Given the description of an element on the screen output the (x, y) to click on. 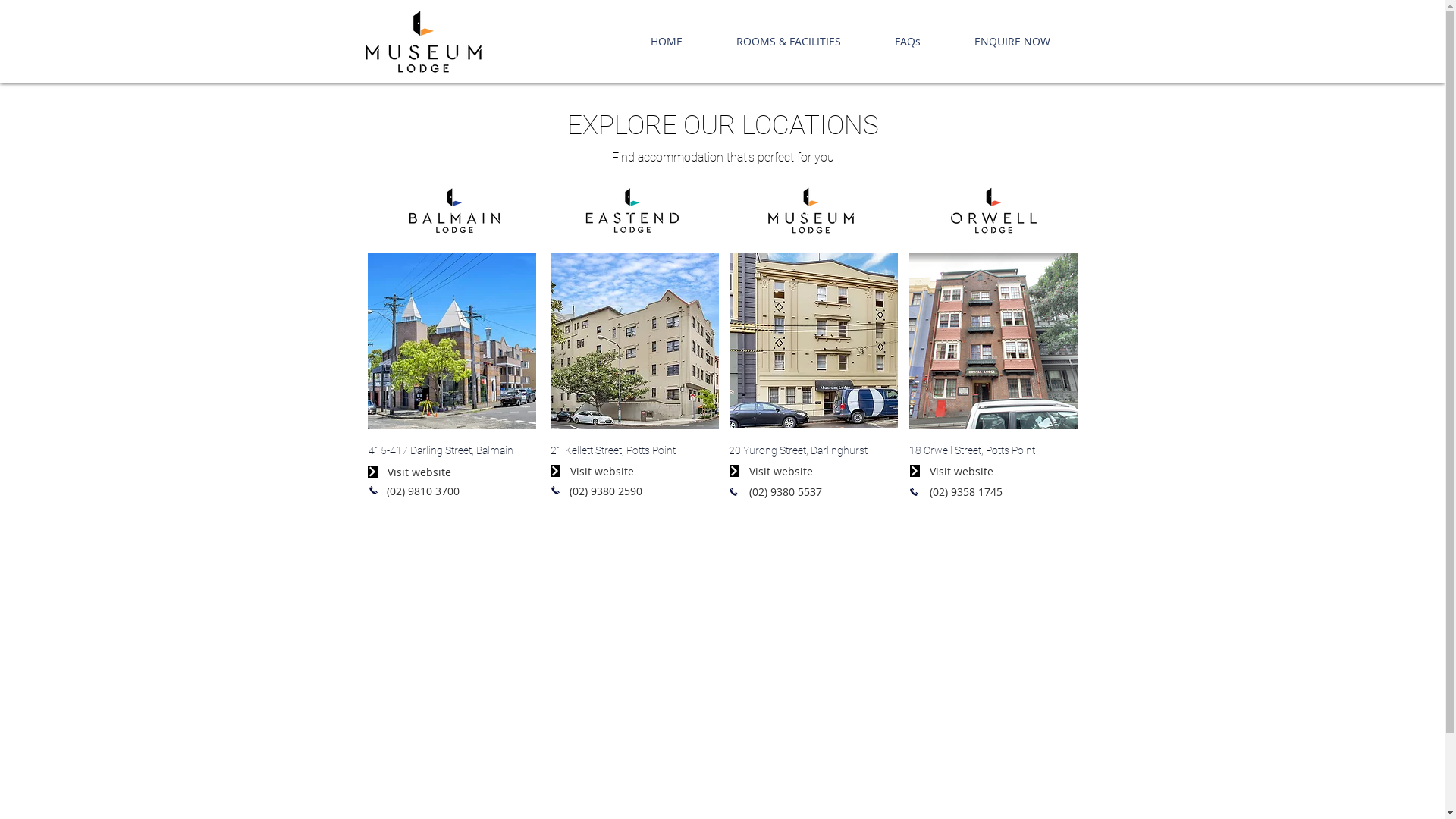
Balmain-Lodge-Pos.png Element type: hover (422, 41)
ROOMS & FACILITIES Element type: text (788, 41)
FAQs Element type: text (907, 41)
Balmain-Lodge-Pos.png Element type: hover (454, 209)
Museum-Lodge-Pos.png Element type: hover (809, 209)
Eastend-Lodge-Pos.png Element type: hover (631, 209)
Orwell-Lodge-Pos.png Element type: hover (993, 209)
ENQUIRE NOW Element type: text (1012, 41)
HOME Element type: text (666, 41)
